Given the description of an element on the screen output the (x, y) to click on. 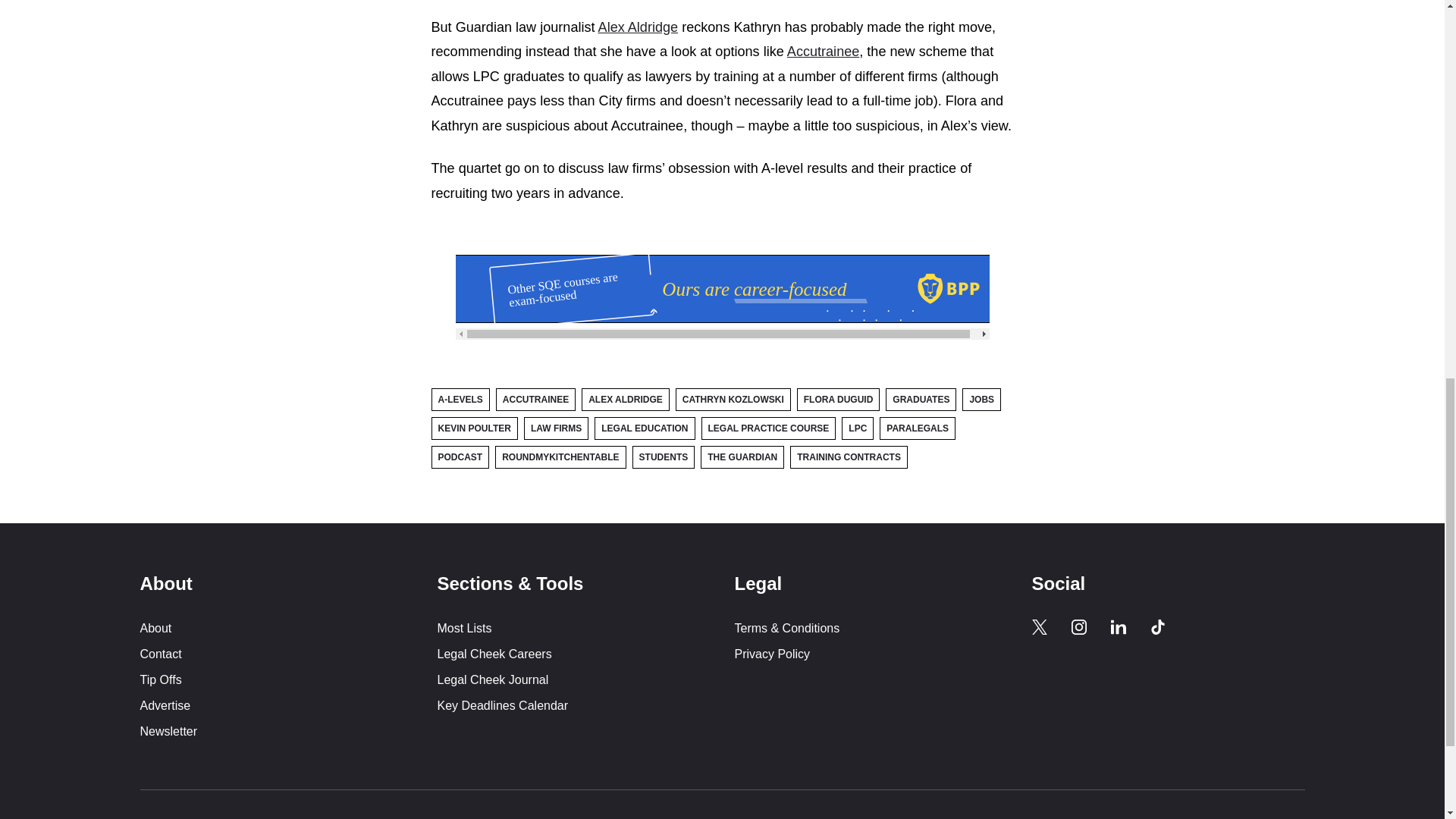
ACCUTRAINEE (535, 399)
advertisement (721, 288)
A-LEVELS (459, 399)
Legal Cheek LinkedIn (1117, 626)
Legal Cheek Twitter (1038, 626)
Accutrainee (823, 51)
Legal Cheek Instagram (1078, 626)
Alex Aldridge (638, 27)
Legal Cheek Tik Tok (1157, 626)
